Given the description of an element on the screen output the (x, y) to click on. 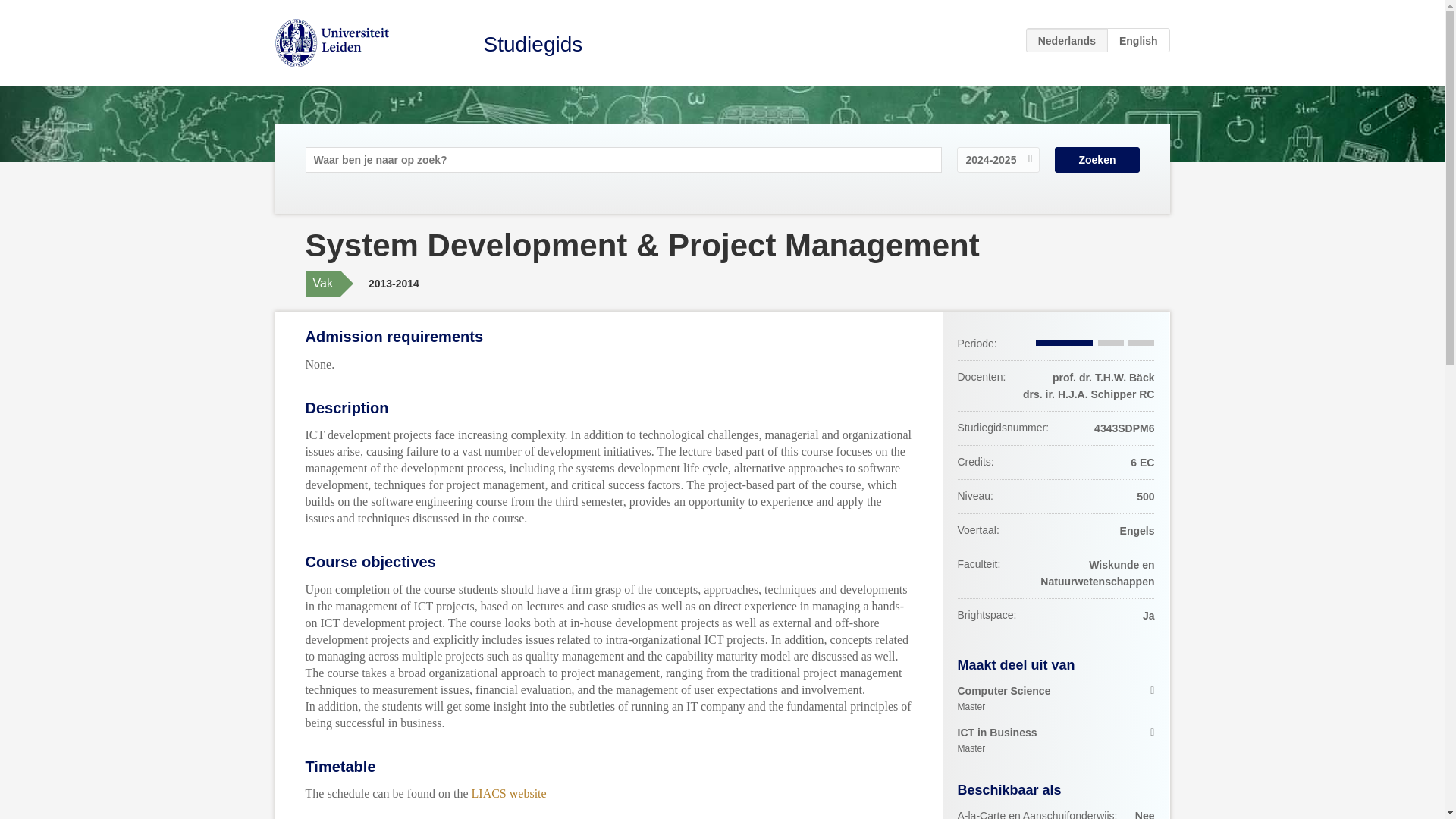
Zoeken (1096, 159)
Studiegids (1055, 698)
EN (533, 44)
LIACS website (1138, 39)
